Given the description of an element on the screen output the (x, y) to click on. 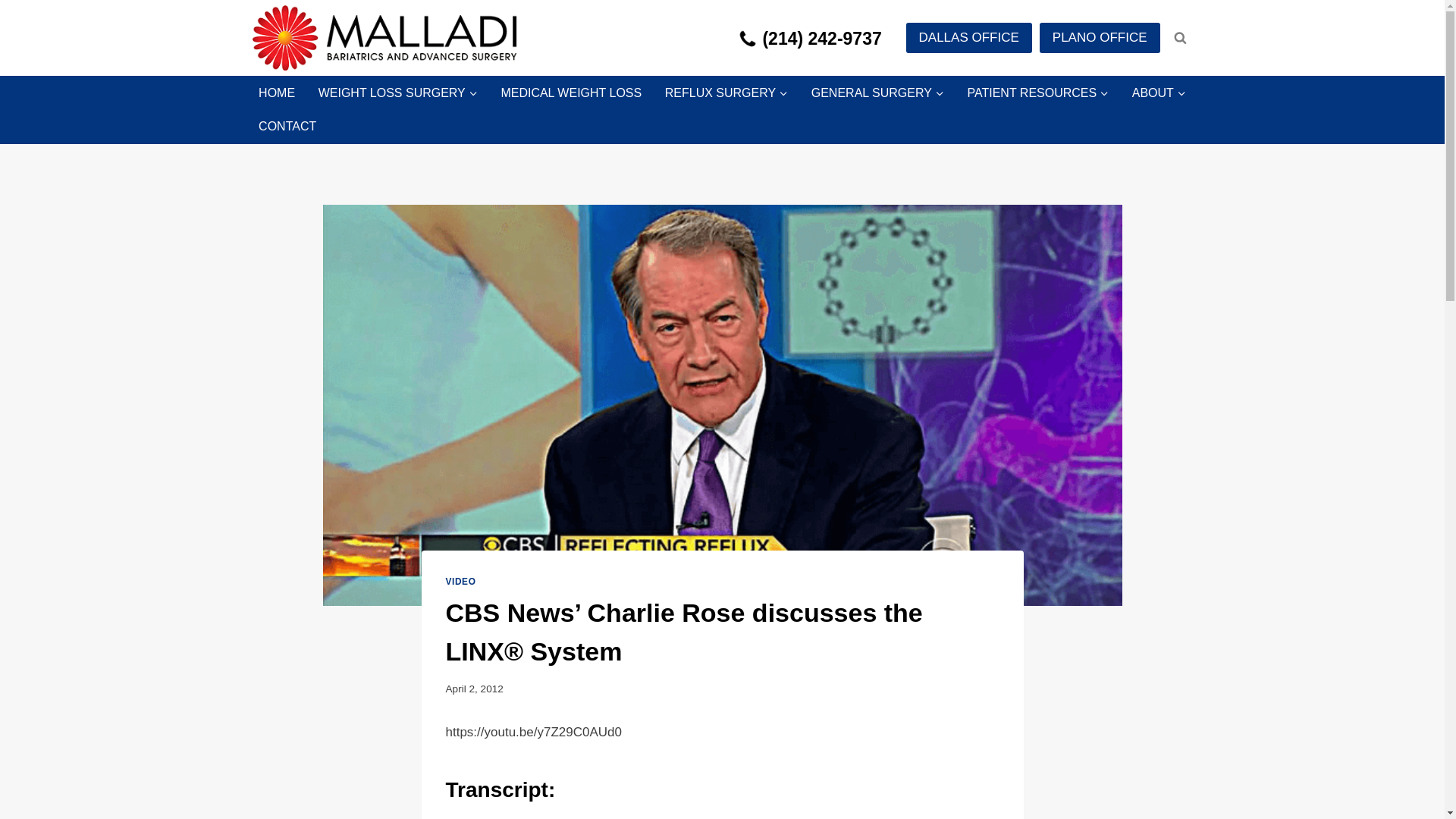
HOME (276, 92)
PATIENT RESOURCES (1037, 92)
WEIGHT LOSS SURGERY (397, 92)
DALLAS OFFICE (968, 38)
PLANO OFFICE (1099, 38)
GENERAL SURGERY (876, 92)
REFLUX SURGERY (726, 92)
MEDICAL WEIGHT LOSS (571, 92)
